Given the description of an element on the screen output the (x, y) to click on. 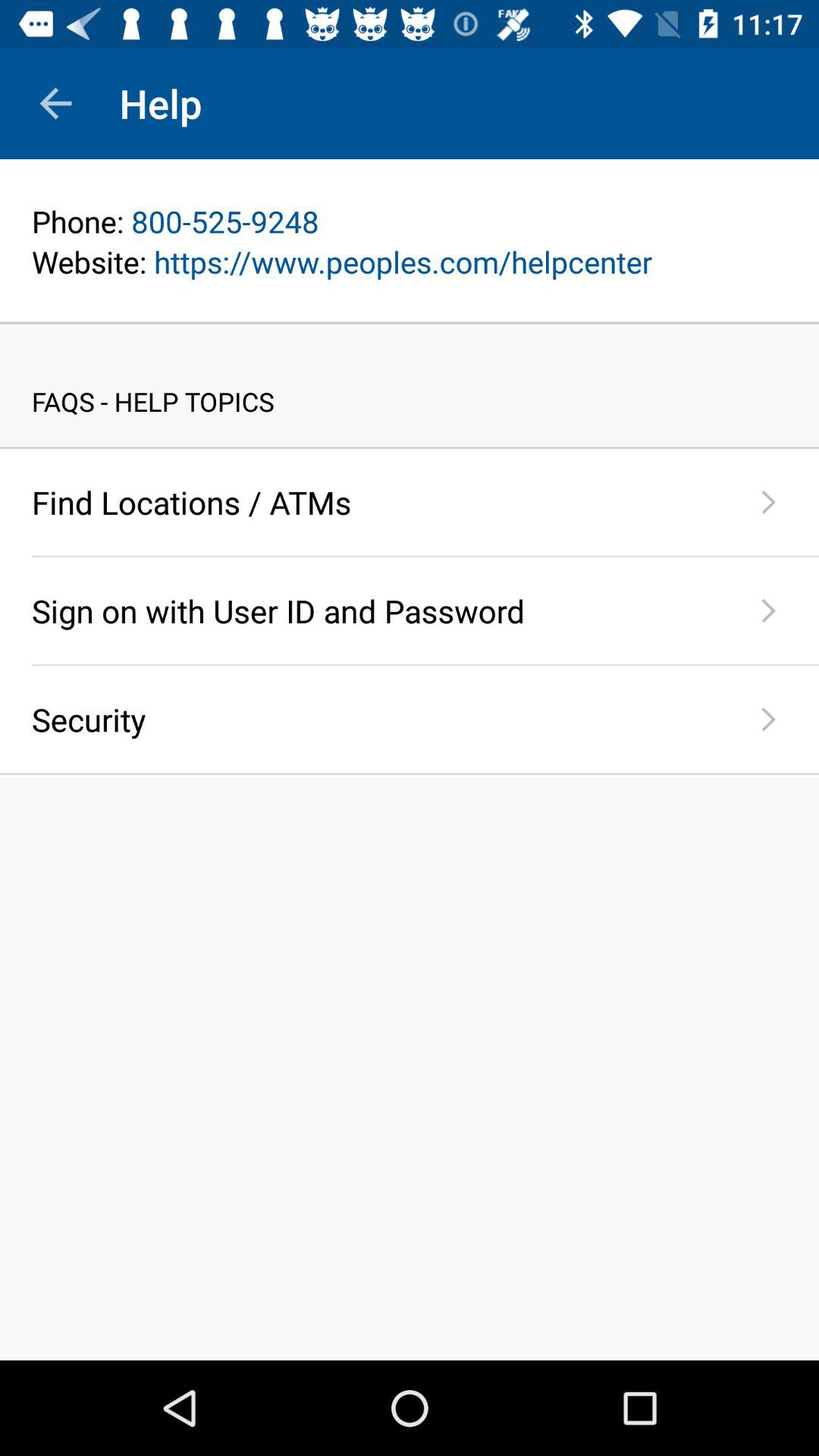
press icon above the find locations / atms app (409, 448)
